Given the description of an element on the screen output the (x, y) to click on. 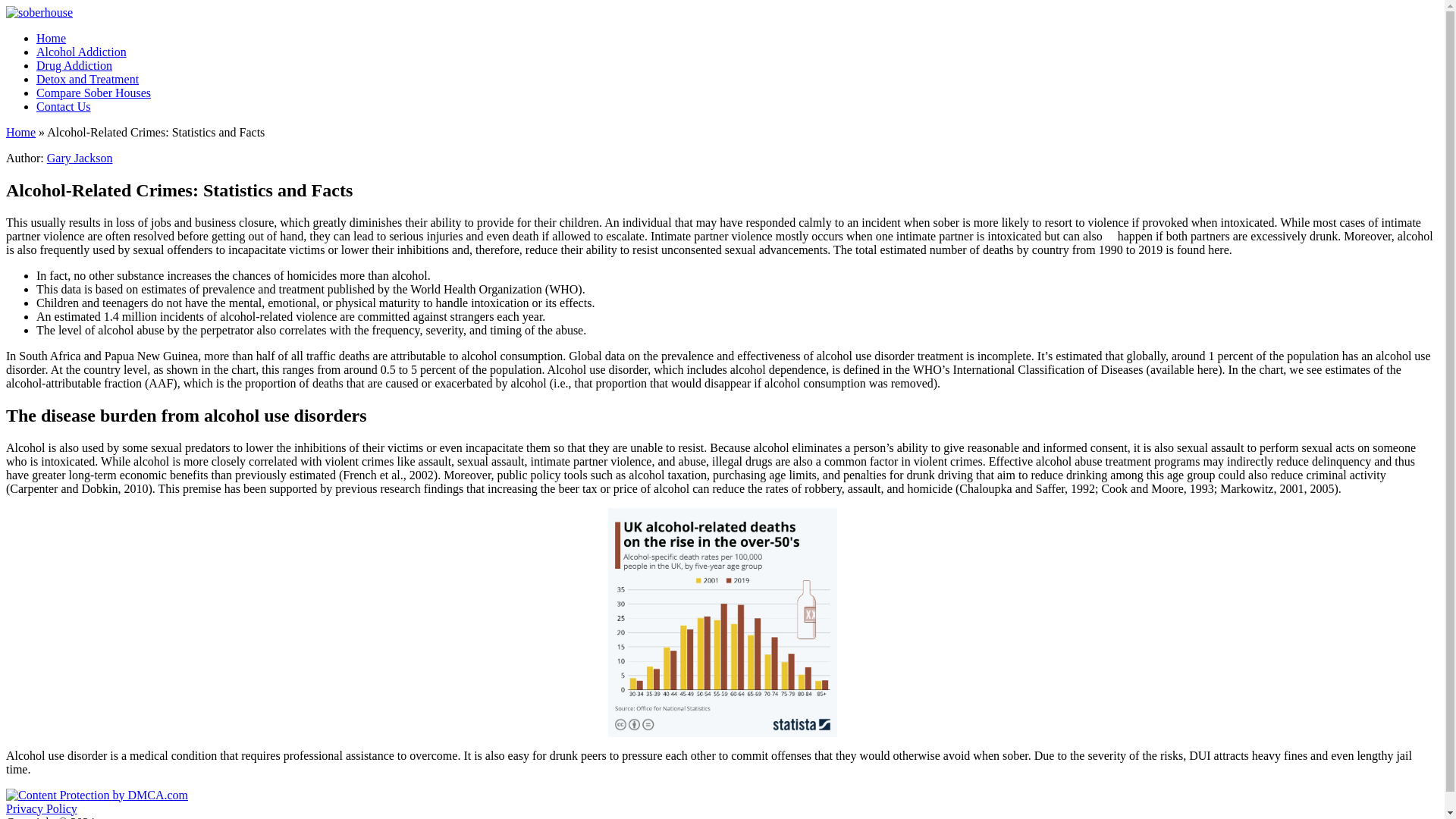
Home (19, 132)
Drug Addiction (74, 65)
Alcohol Addiction (81, 51)
Privacy Policy (41, 808)
Home (50, 38)
Content Protection by DMCA.com (96, 794)
Detox and Treatment (87, 78)
Contact Us (63, 106)
Compare Sober Houses (93, 92)
Gary Jackson (79, 157)
